Given the description of an element on the screen output the (x, y) to click on. 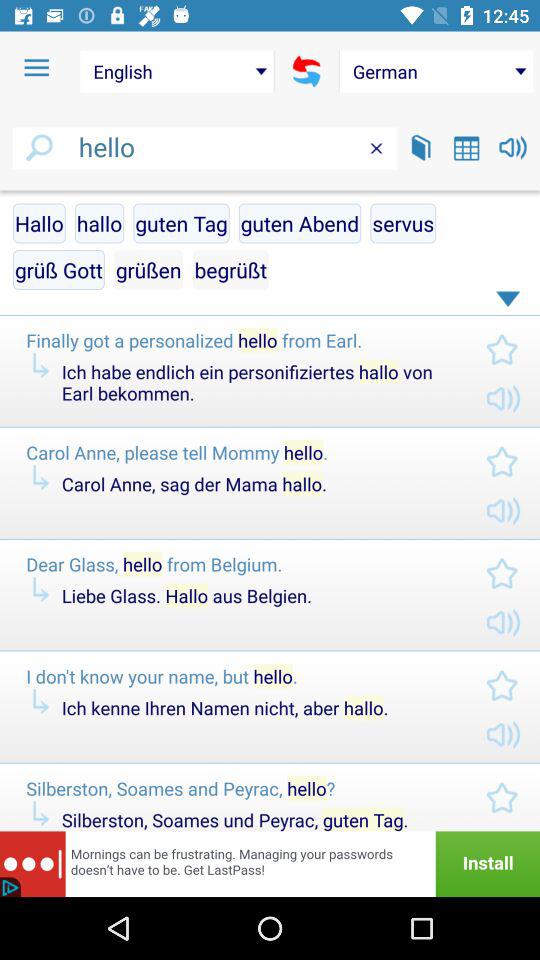
the volume icon represented to increase or decrease the volume (512, 147)
